Given the description of an element on the screen output the (x, y) to click on. 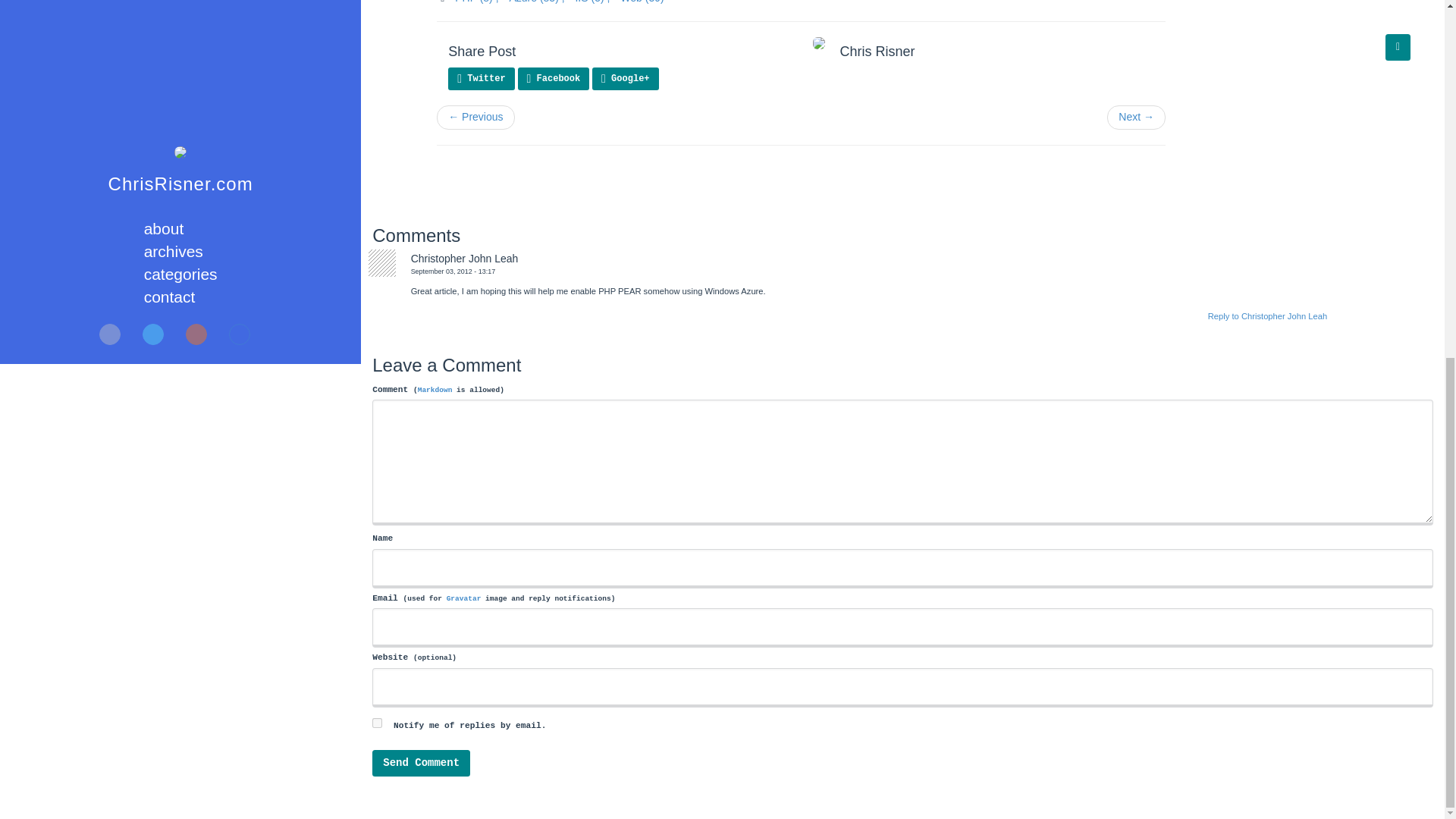
iOS and Windows Azure Communication using SignalR (1136, 117)
Permalink to this comment (453, 271)
Windows Azure Websites and Mobile Clients: Wrap Up (474, 117)
email (376, 723)
Twitter (480, 78)
